Given the description of an element on the screen output the (x, y) to click on. 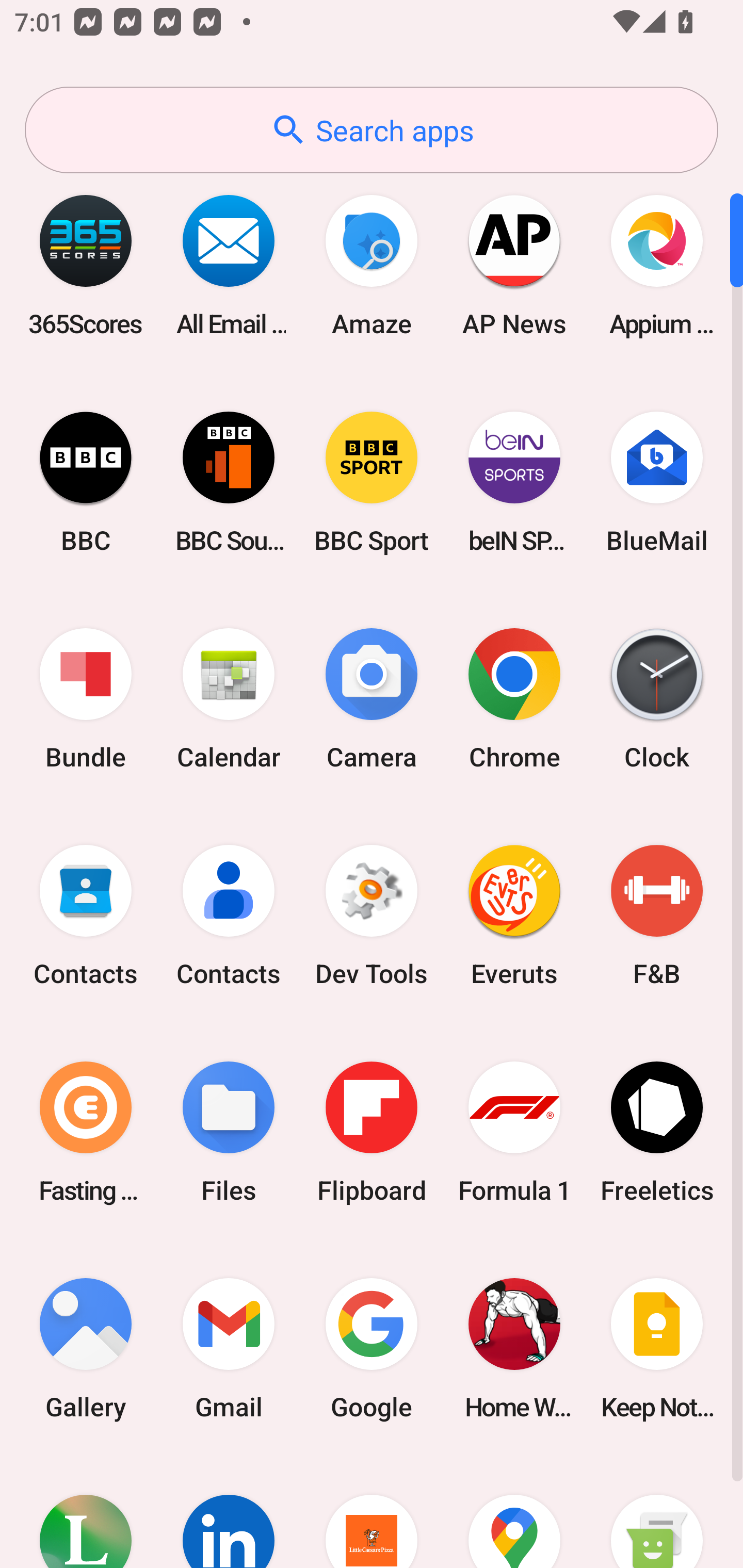
  Search apps (371, 130)
365Scores (85, 264)
All Email Connect (228, 264)
Amaze (371, 264)
AP News (514, 264)
Appium Settings (656, 264)
BBC (85, 482)
BBC Sounds (228, 482)
BBC Sport (371, 482)
beIN SPORTS (514, 482)
BlueMail (656, 482)
Bundle (85, 699)
Calendar (228, 699)
Camera (371, 699)
Chrome (514, 699)
Clock (656, 699)
Contacts (85, 915)
Contacts (228, 915)
Dev Tools (371, 915)
Everuts (514, 915)
F&B (656, 915)
Fasting Coach (85, 1131)
Files (228, 1131)
Flipboard (371, 1131)
Formula 1 (514, 1131)
Freeletics (656, 1131)
Gallery (85, 1348)
Gmail (228, 1348)
Google (371, 1348)
Home Workout (514, 1348)
Keep Notes (656, 1348)
Lifesum (85, 1512)
LinkedIn (228, 1512)
Little Caesars Pizza (371, 1512)
Maps (514, 1512)
Messaging (656, 1512)
